Given the description of an element on the screen output the (x, y) to click on. 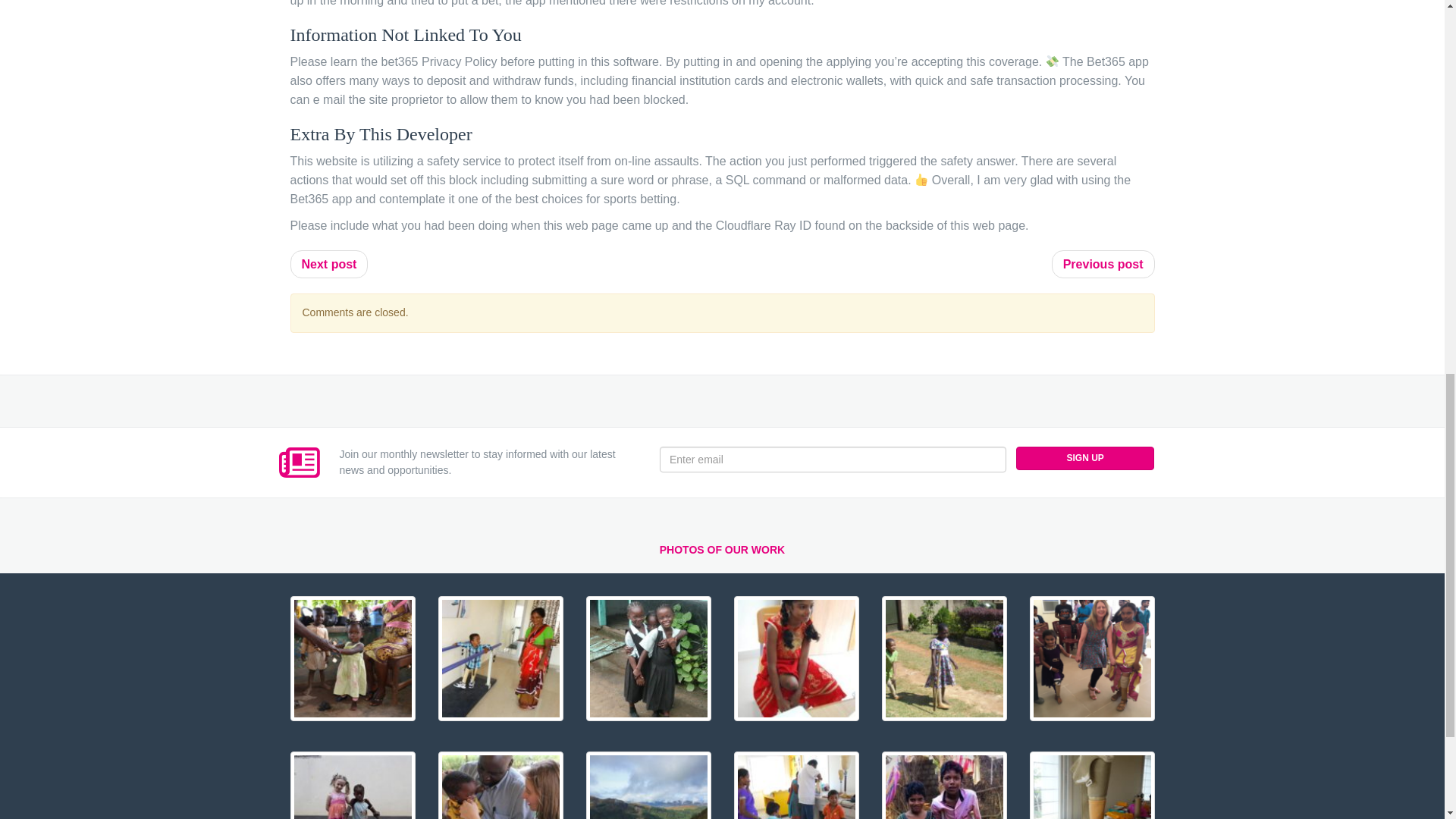
Previous post (1102, 264)
SIGN UP (1085, 458)
Next post (328, 264)
